Given the description of an element on the screen output the (x, y) to click on. 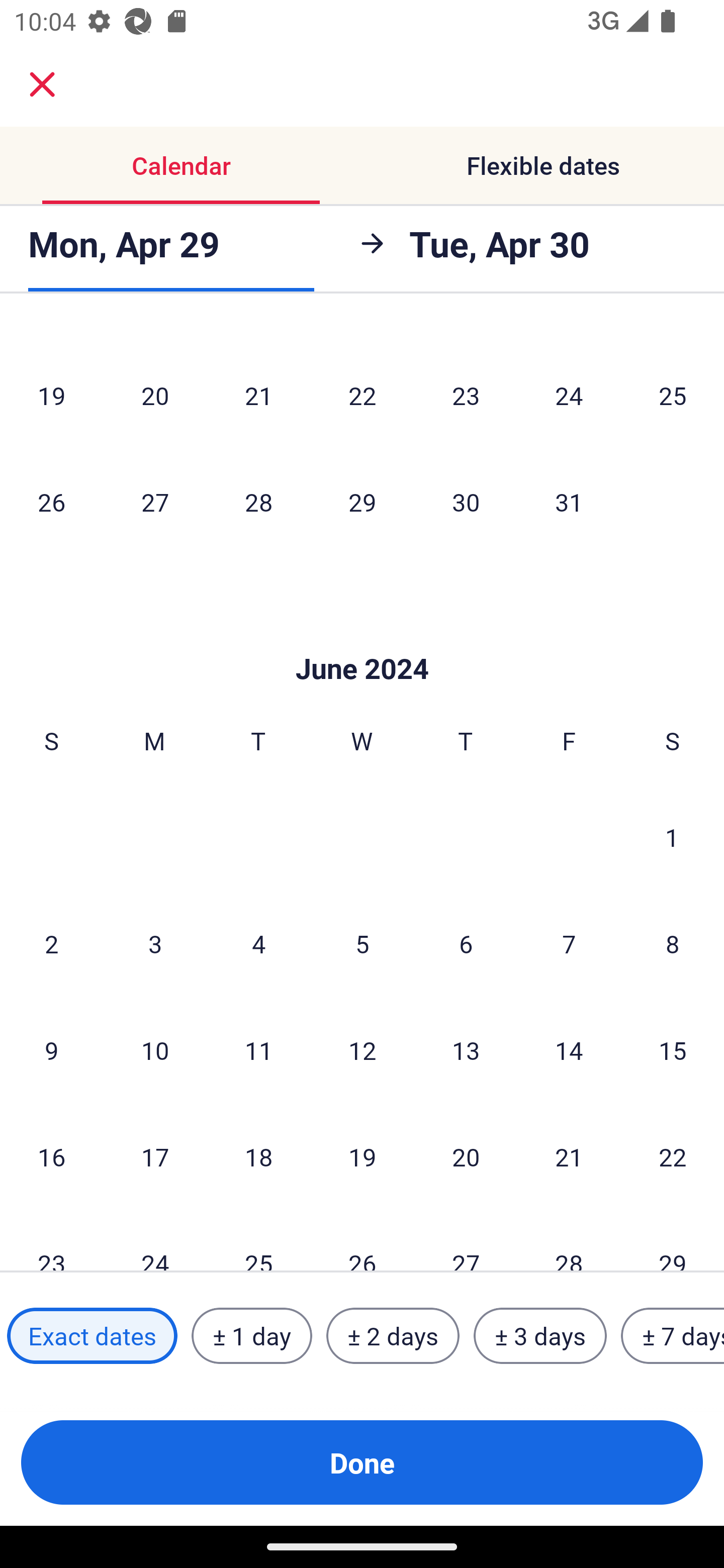
close. (42, 84)
Flexible dates (542, 164)
19 Sunday, May 19, 2024 (51, 394)
20 Monday, May 20, 2024 (155, 394)
21 Tuesday, May 21, 2024 (258, 394)
22 Wednesday, May 22, 2024 (362, 394)
23 Thursday, May 23, 2024 (465, 394)
24 Friday, May 24, 2024 (569, 394)
25 Saturday, May 25, 2024 (672, 394)
26 Sunday, May 26, 2024 (51, 501)
27 Monday, May 27, 2024 (155, 501)
28 Tuesday, May 28, 2024 (258, 501)
29 Wednesday, May 29, 2024 (362, 501)
30 Thursday, May 30, 2024 (465, 501)
31 Friday, May 31, 2024 (569, 501)
Skip to Done (362, 637)
1 Saturday, June 1, 2024 (672, 837)
2 Sunday, June 2, 2024 (51, 943)
3 Monday, June 3, 2024 (155, 943)
4 Tuesday, June 4, 2024 (258, 943)
5 Wednesday, June 5, 2024 (362, 943)
6 Thursday, June 6, 2024 (465, 943)
7 Friday, June 7, 2024 (569, 943)
8 Saturday, June 8, 2024 (672, 943)
9 Sunday, June 9, 2024 (51, 1050)
10 Monday, June 10, 2024 (155, 1050)
11 Tuesday, June 11, 2024 (258, 1050)
12 Wednesday, June 12, 2024 (362, 1050)
13 Thursday, June 13, 2024 (465, 1050)
14 Friday, June 14, 2024 (569, 1050)
15 Saturday, June 15, 2024 (672, 1050)
16 Sunday, June 16, 2024 (51, 1156)
17 Monday, June 17, 2024 (155, 1156)
18 Tuesday, June 18, 2024 (258, 1156)
19 Wednesday, June 19, 2024 (362, 1156)
20 Thursday, June 20, 2024 (465, 1156)
21 Friday, June 21, 2024 (569, 1156)
22 Saturday, June 22, 2024 (672, 1156)
23 Sunday, June 23, 2024 (51, 1241)
24 Monday, June 24, 2024 (155, 1241)
25 Tuesday, June 25, 2024 (258, 1241)
26 Wednesday, June 26, 2024 (362, 1241)
27 Thursday, June 27, 2024 (465, 1241)
28 Friday, June 28, 2024 (569, 1241)
29 Saturday, June 29, 2024 (672, 1241)
Exact dates (92, 1335)
± 1 day (251, 1335)
± 2 days (392, 1335)
± 3 days (539, 1335)
± 7 days (672, 1335)
Done (361, 1462)
